Given the description of an element on the screen output the (x, y) to click on. 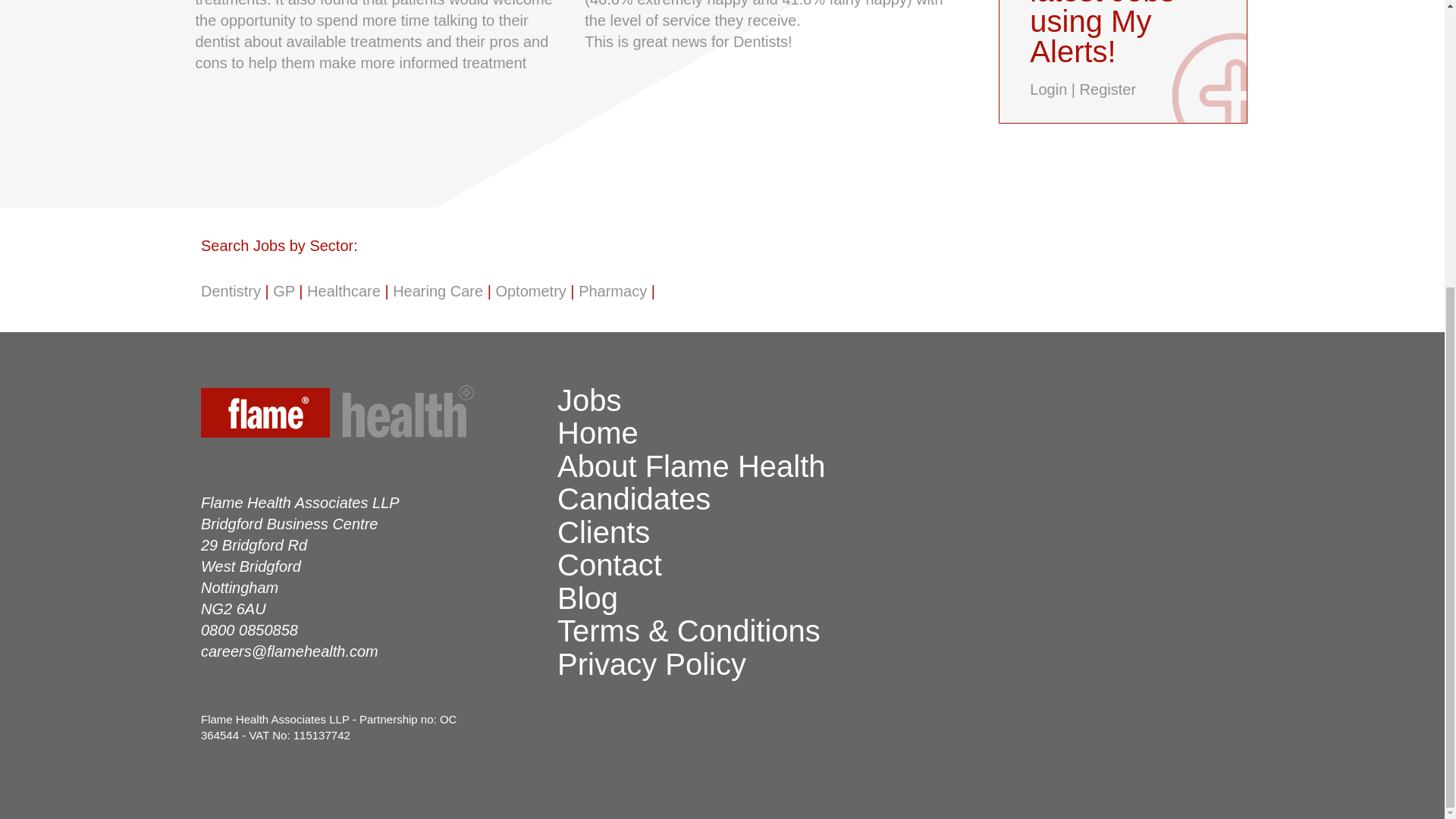
Home (598, 432)
Flame Health (370, 413)
Hearing Care (438, 290)
GP (284, 290)
Login (1048, 89)
Jobs (589, 400)
Optometry (530, 290)
Register (1107, 89)
Pharmacy (612, 290)
Dentistry (230, 290)
